Given the description of an element on the screen output the (x, y) to click on. 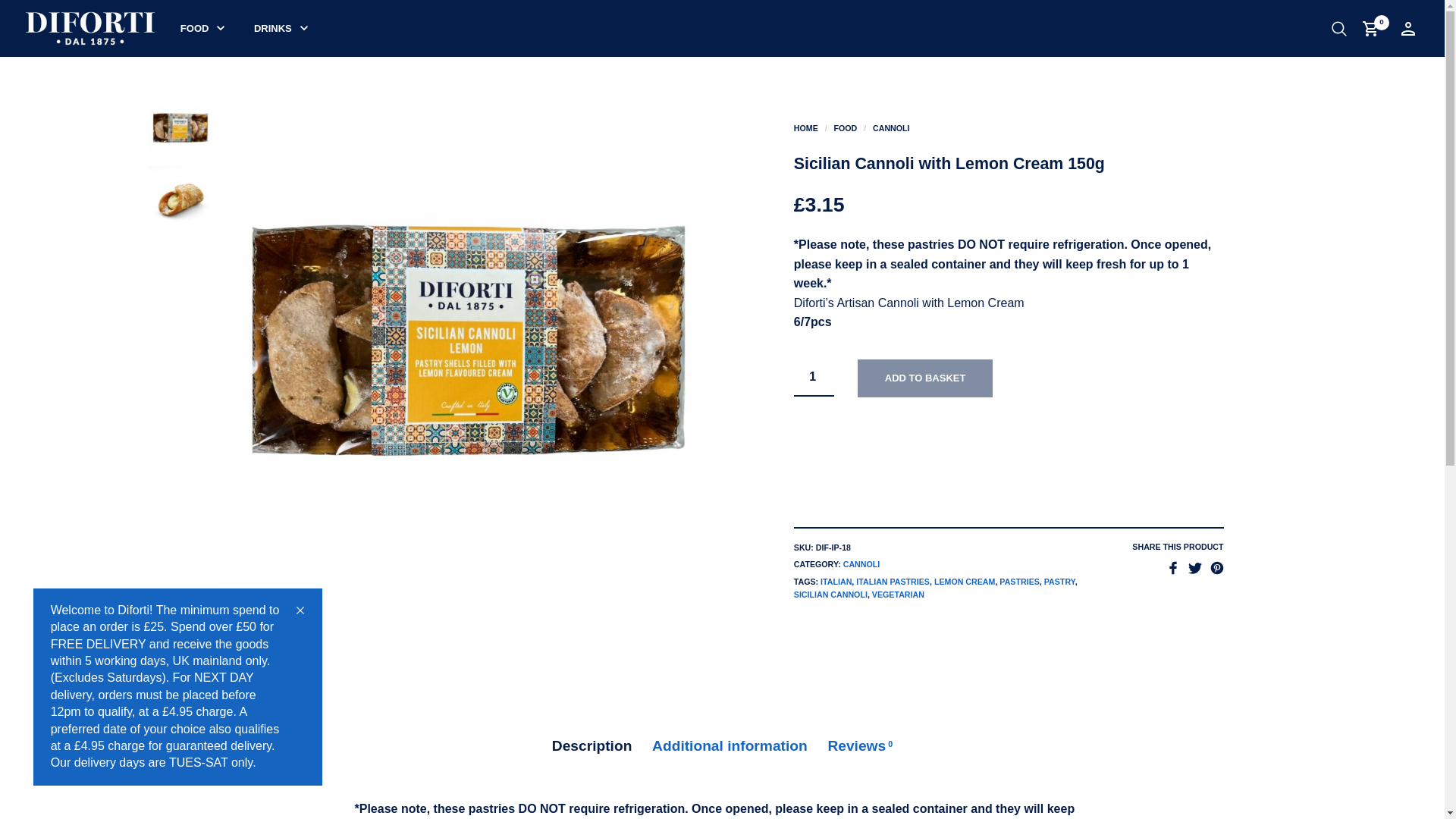
PayPal (1008, 438)
FOOD (844, 127)
0 (1373, 28)
1 (813, 378)
DRINKS (272, 29)
HOME (805, 127)
